Given the description of an element on the screen output the (x, y) to click on. 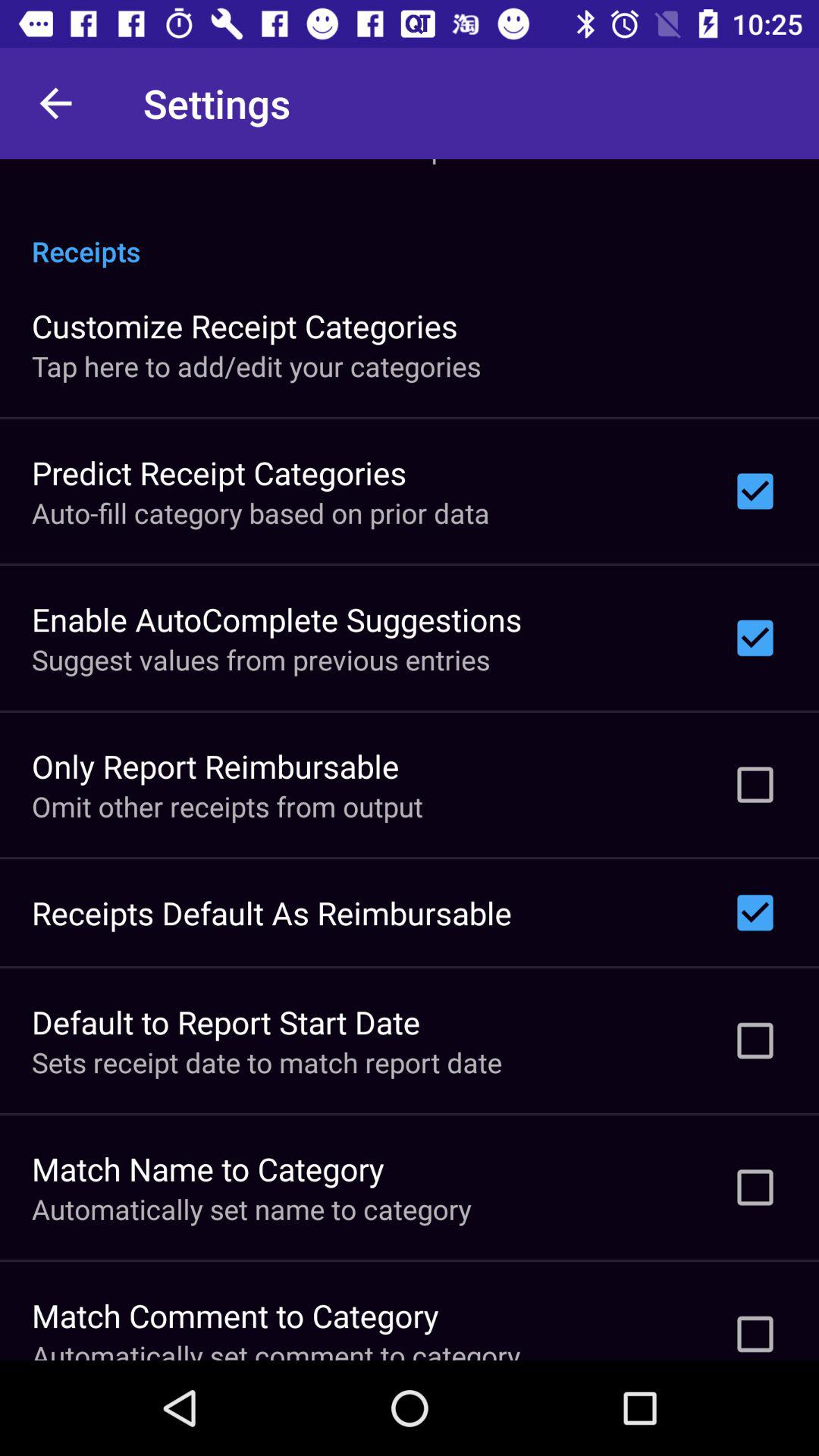
choose only report reimbursable (215, 765)
